Given the description of an element on the screen output the (x, y) to click on. 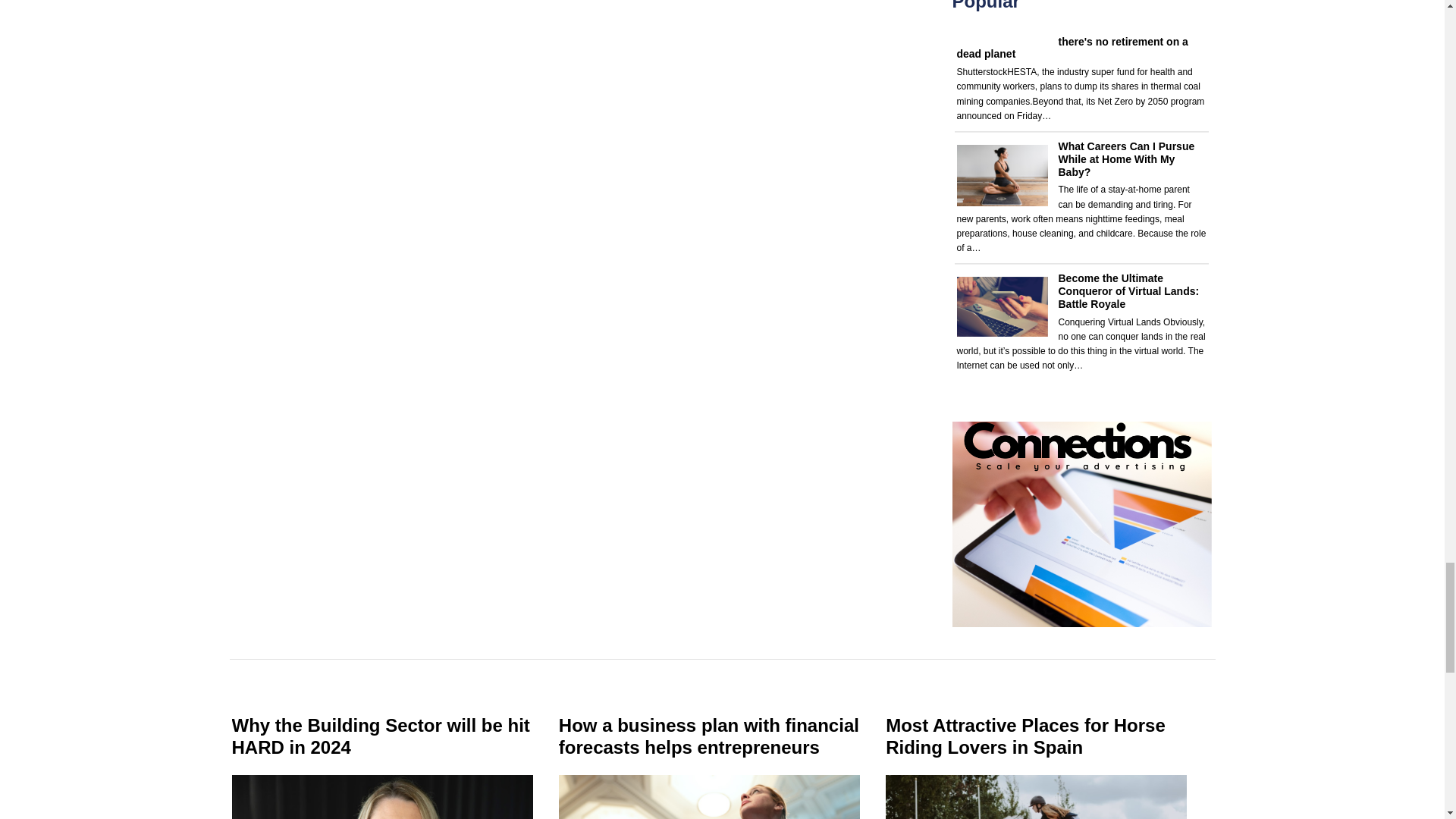
Most Attractive Places for Horse Riding Lovers in Spain (1025, 735)
Why the Building Sector will be hit HARD in 2024 (380, 735)
there's no retirement on a dead planet (1072, 48)
What Careers Can I Pursue While at Home With My Baby? (1126, 159)
